Given the description of an element on the screen output the (x, y) to click on. 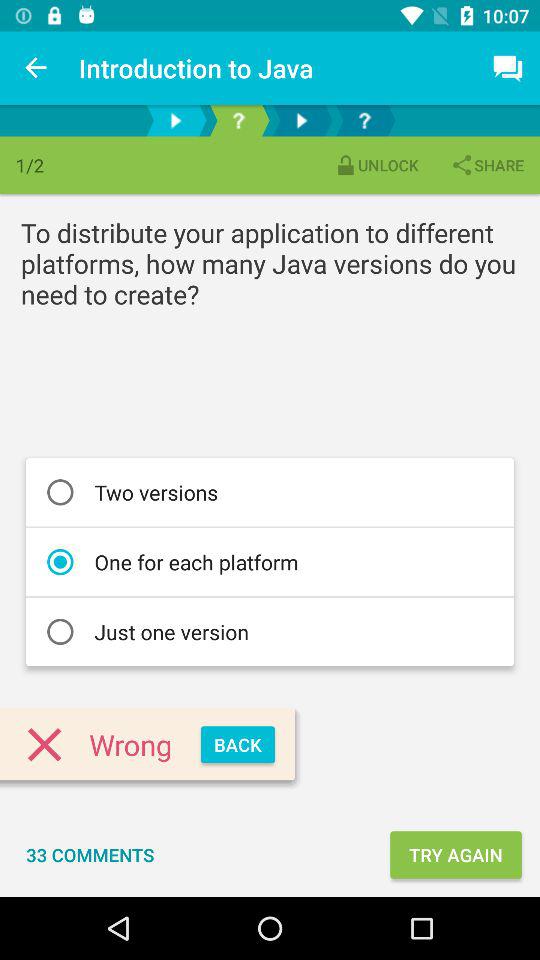
turn off 33 comments icon (90, 854)
